Given the description of an element on the screen output the (x, y) to click on. 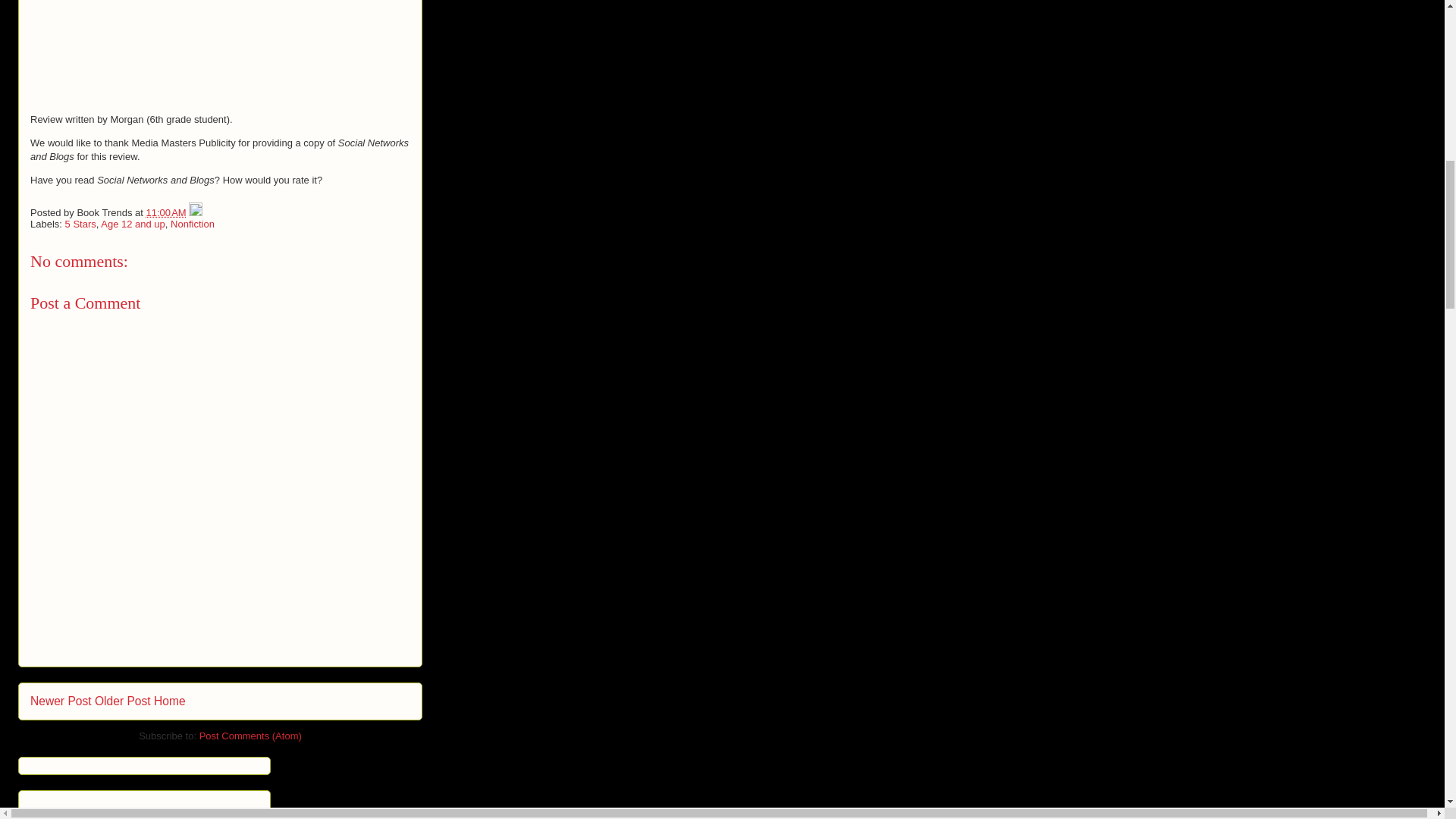
Nonfiction (192, 224)
Home (170, 700)
Advertisement (143, 807)
Newer Post (60, 700)
Older Post (122, 700)
Newer Post (60, 700)
Age 12 and up (132, 224)
Edit Post (195, 212)
Older Post (122, 700)
5 Stars (80, 224)
permanent link (166, 212)
